Given the description of an element on the screen output the (x, y) to click on. 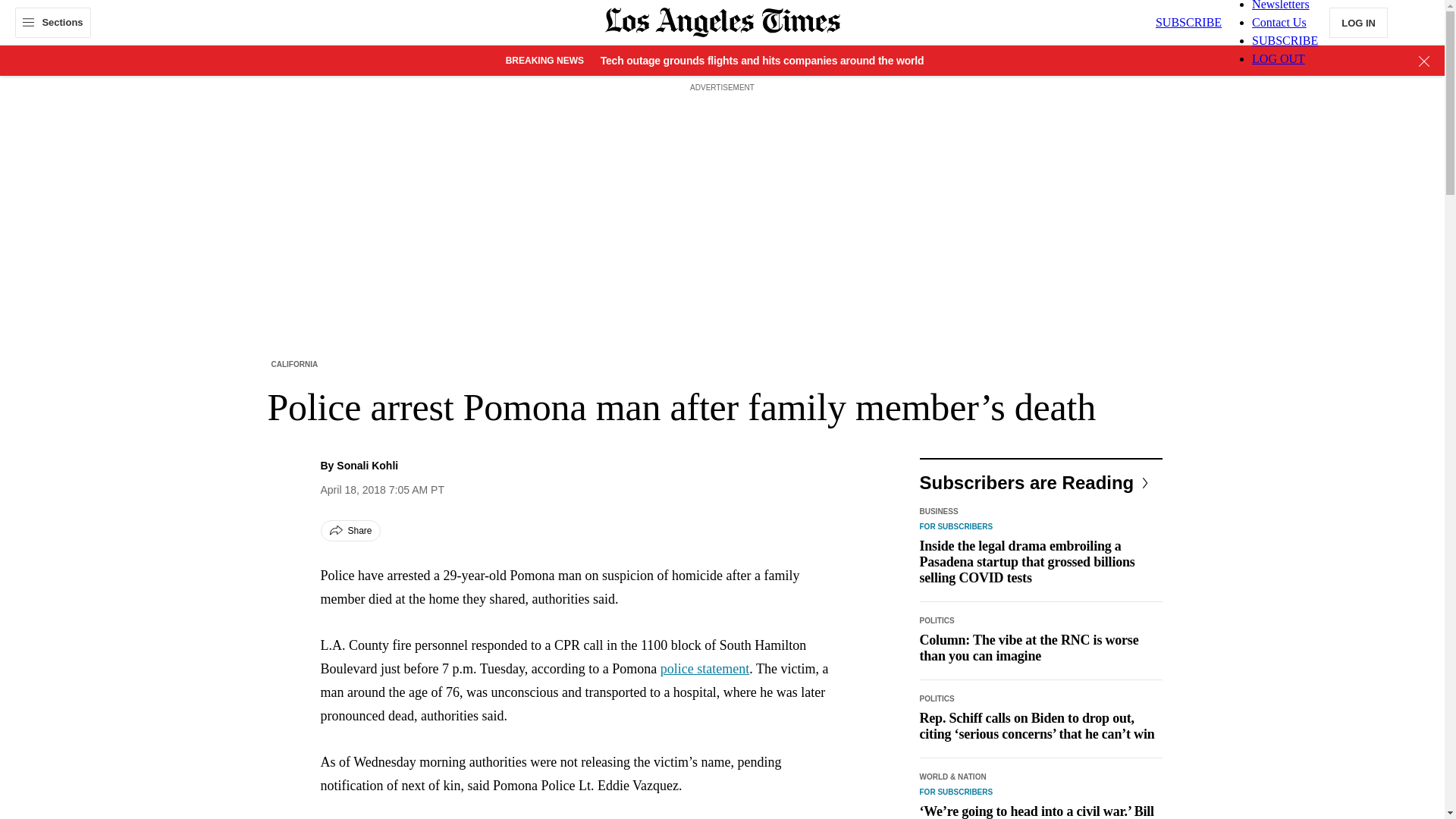
3rd party ad content (721, 130)
